Given the description of an element on the screen output the (x, y) to click on. 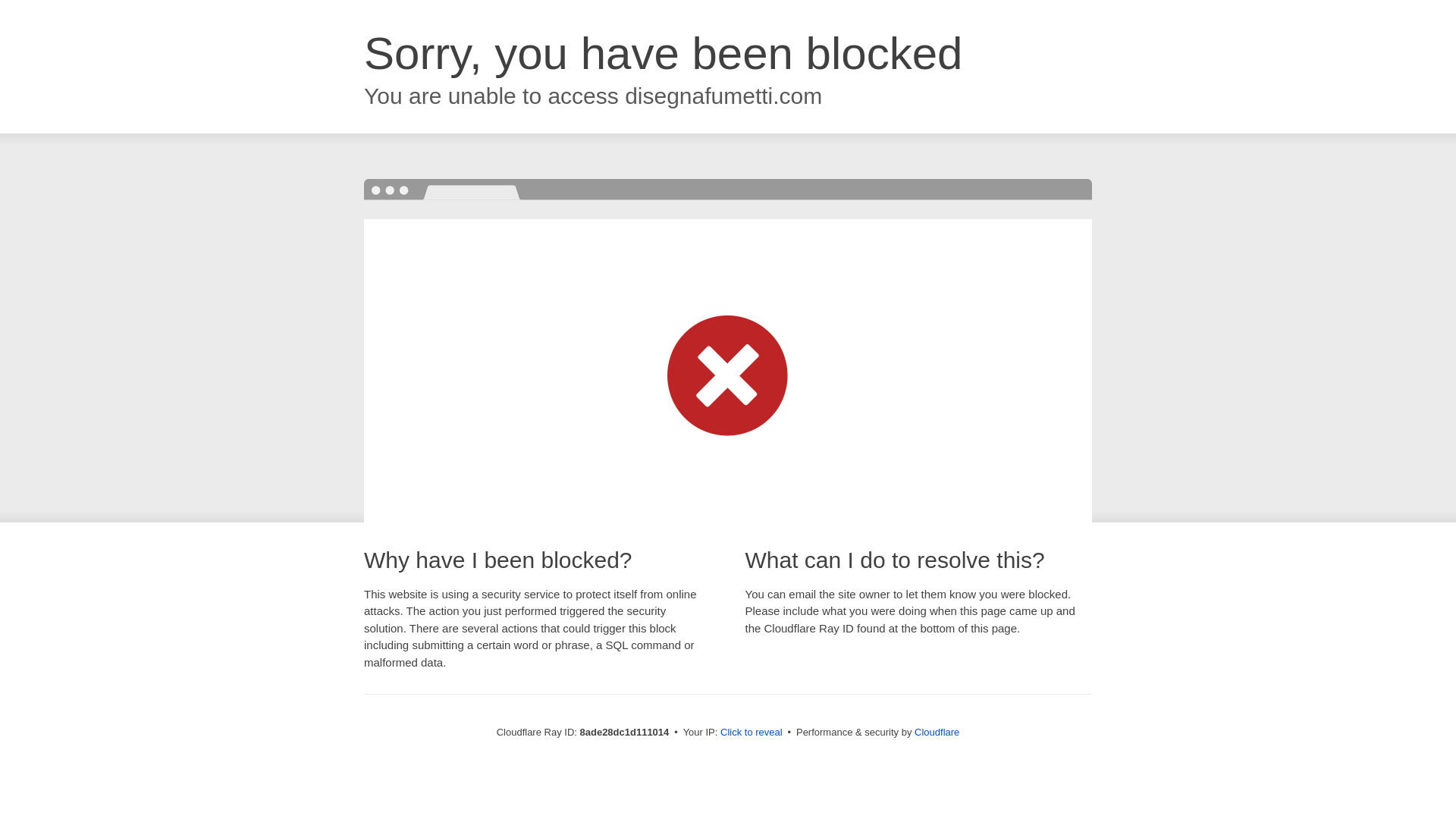
Cloudflare (936, 731)
Click to reveal (751, 732)
